Given the description of an element on the screen output the (x, y) to click on. 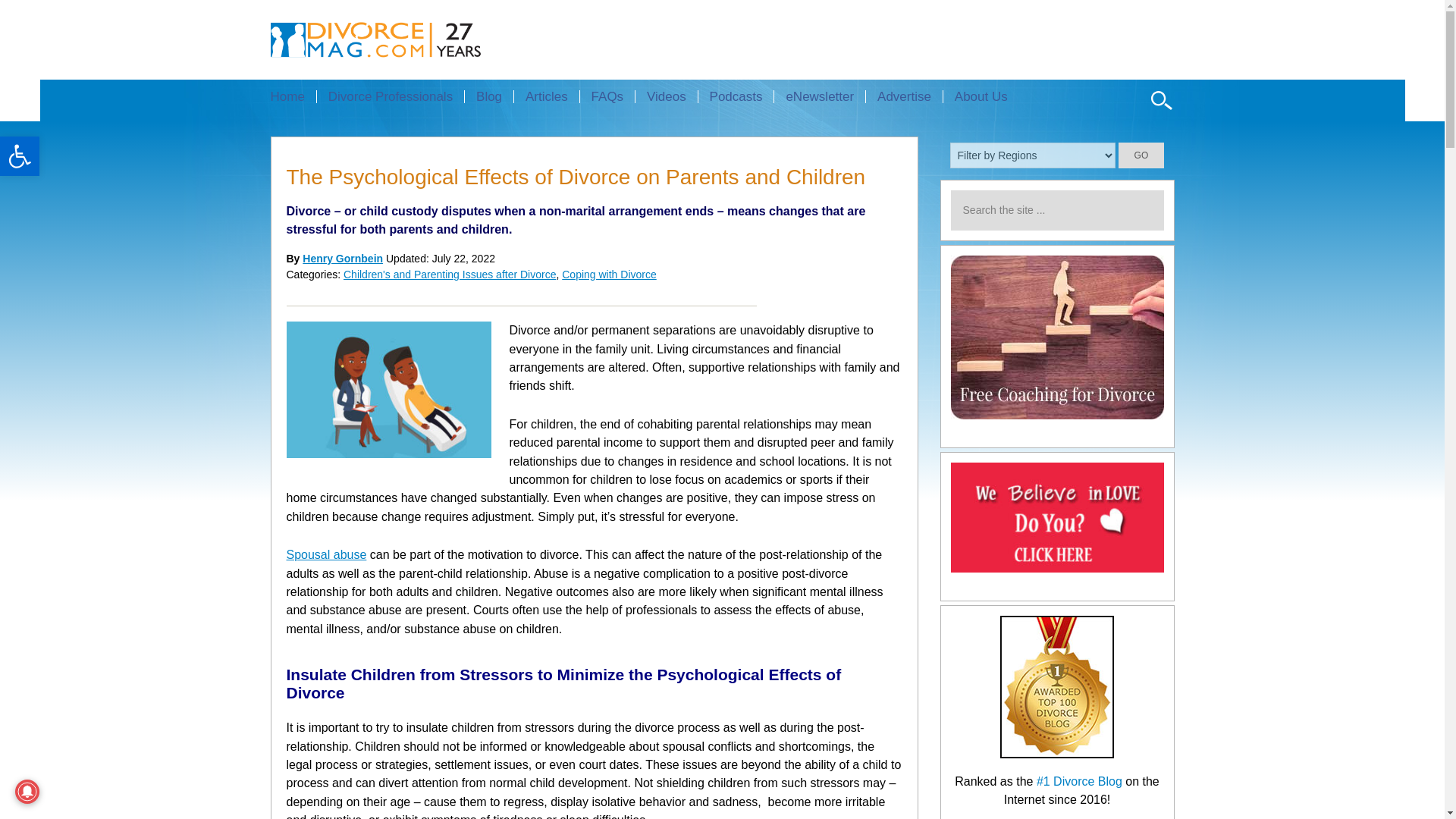
Divorce Professionals (389, 96)
Blog (488, 96)
Home (292, 96)
Articles (546, 96)
Select Region (1032, 155)
Open toolbar (19, 156)
Accessibility Tools (19, 156)
Divorce Magazine (401, 39)
